Given the description of an element on the screen output the (x, y) to click on. 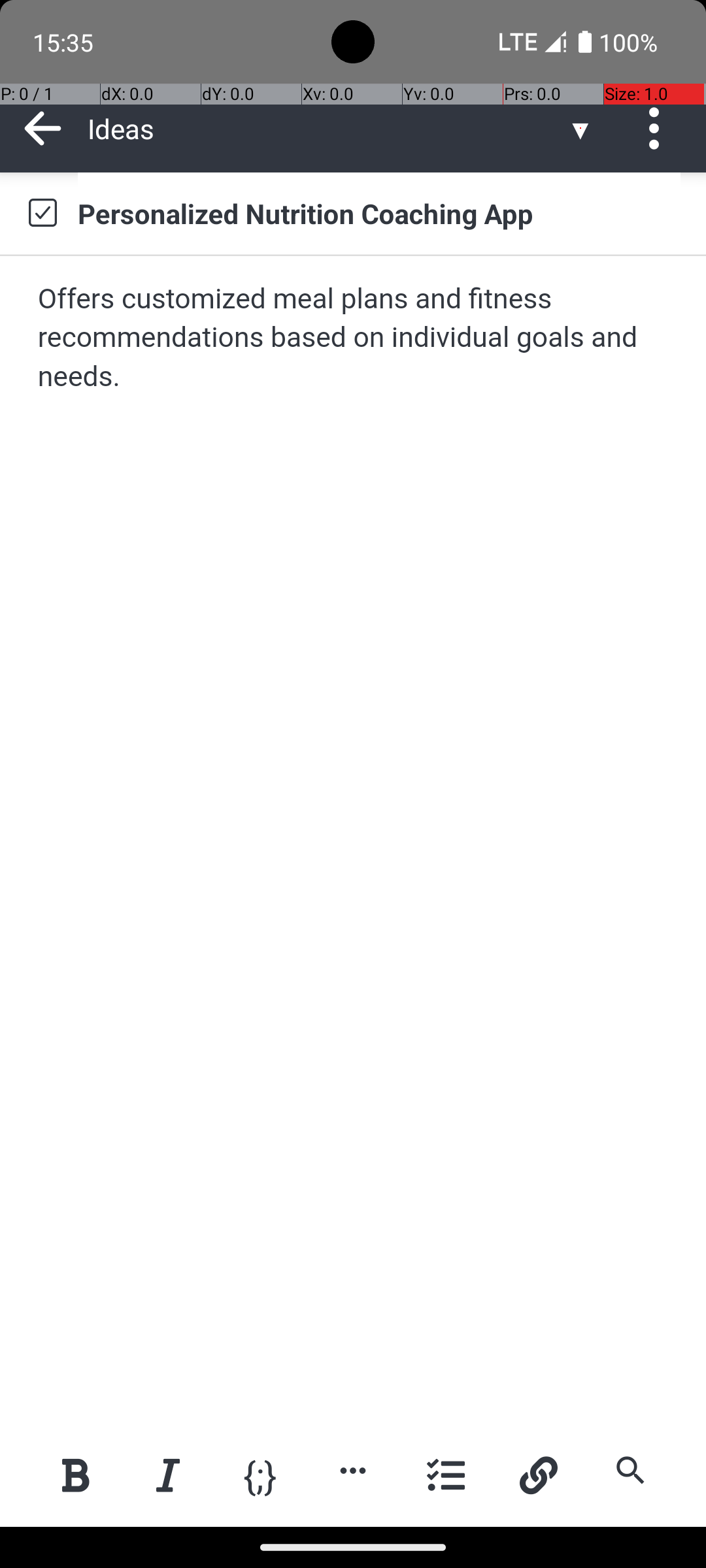
Personalized Nutrition Coaching App Element type: android.widget.EditText (378, 213)
Offers customized meal plans and fitness recommendations based on individual goals and needs. Element type: android.widget.EditText (354, 338)
